Given the description of an element on the screen output the (x, y) to click on. 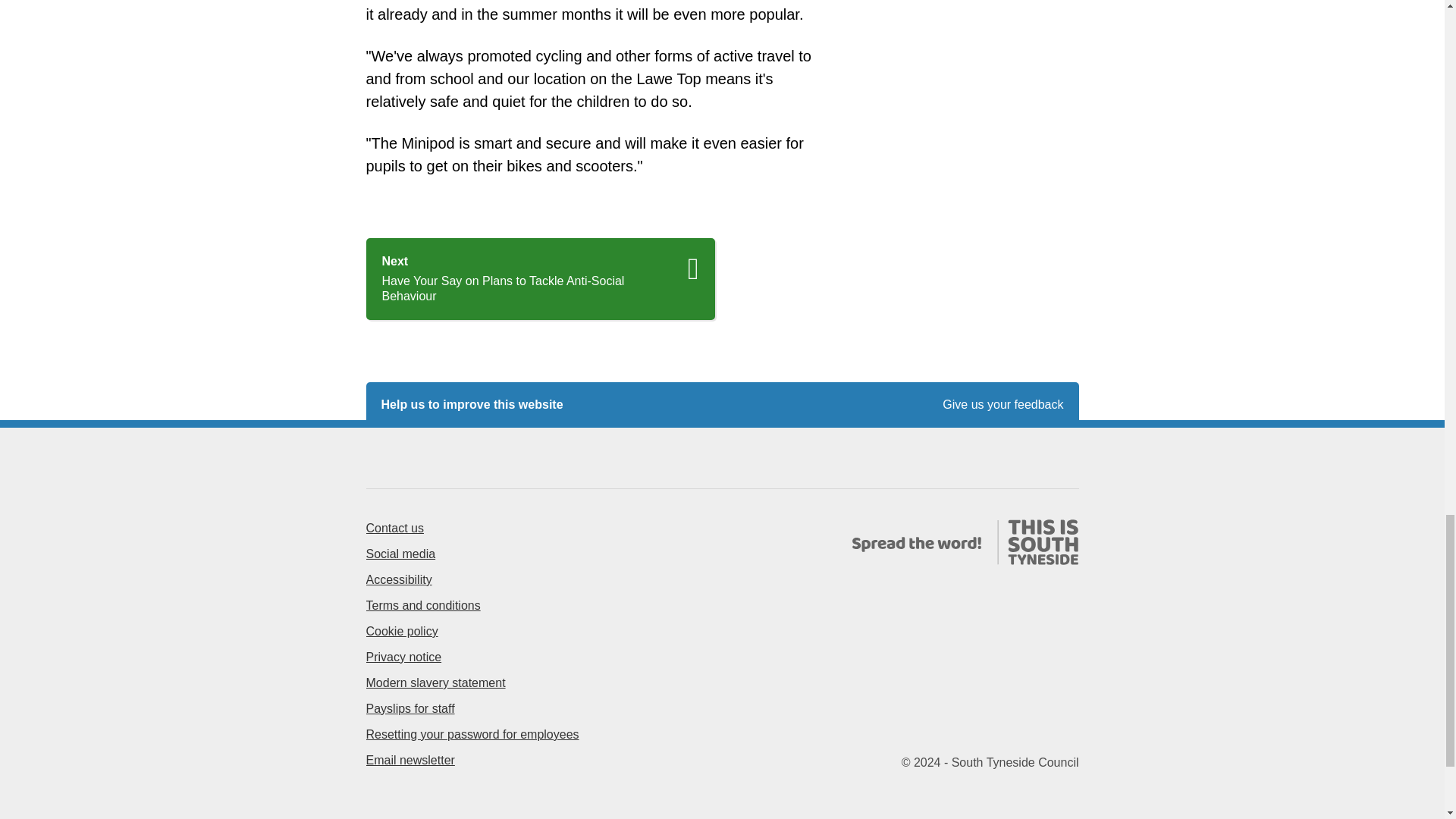
Privacy notice (403, 656)
Give us your feedback (1002, 404)
Social media (400, 553)
Email newsletter (409, 759)
Payslips for staff (409, 707)
Contact us (394, 527)
Accessibility (397, 579)
Cookie policy (401, 631)
Resetting your password for employees (471, 734)
Modern slavery statement (435, 682)
Terms and conditions (422, 604)
